Given the description of an element on the screen output the (x, y) to click on. 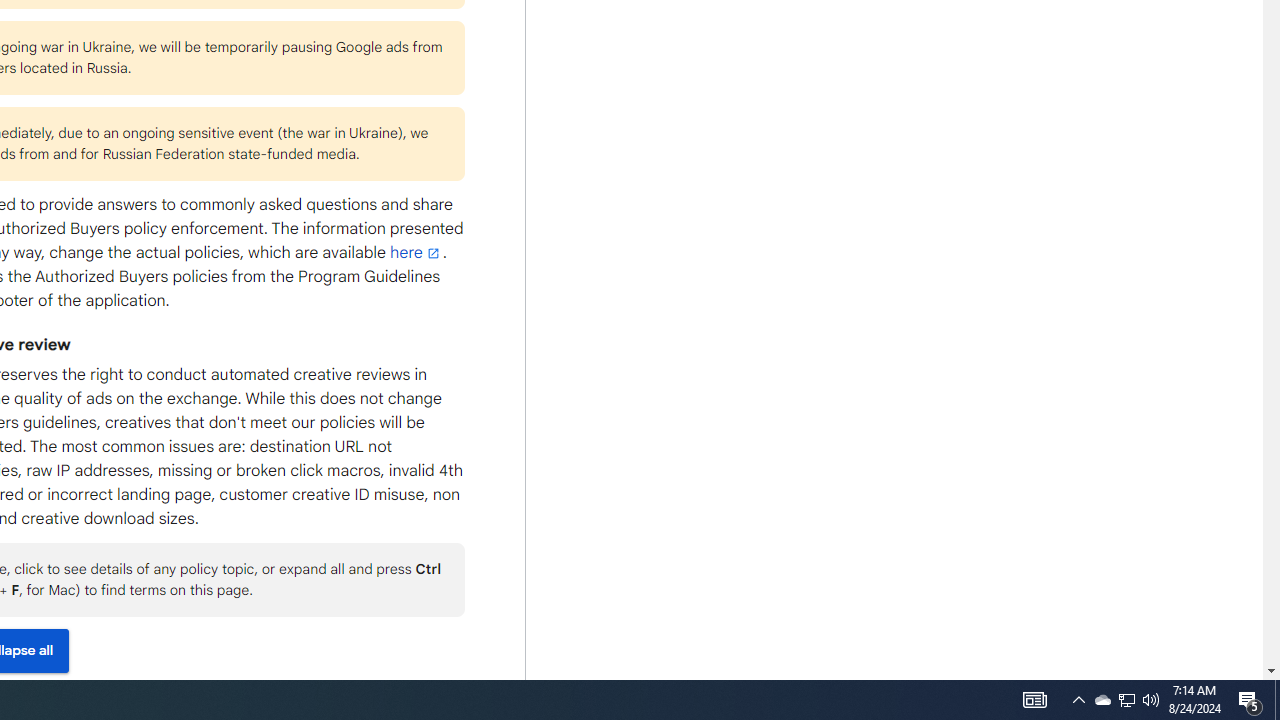
here (416, 252)
